Given the description of an element on the screen output the (x, y) to click on. 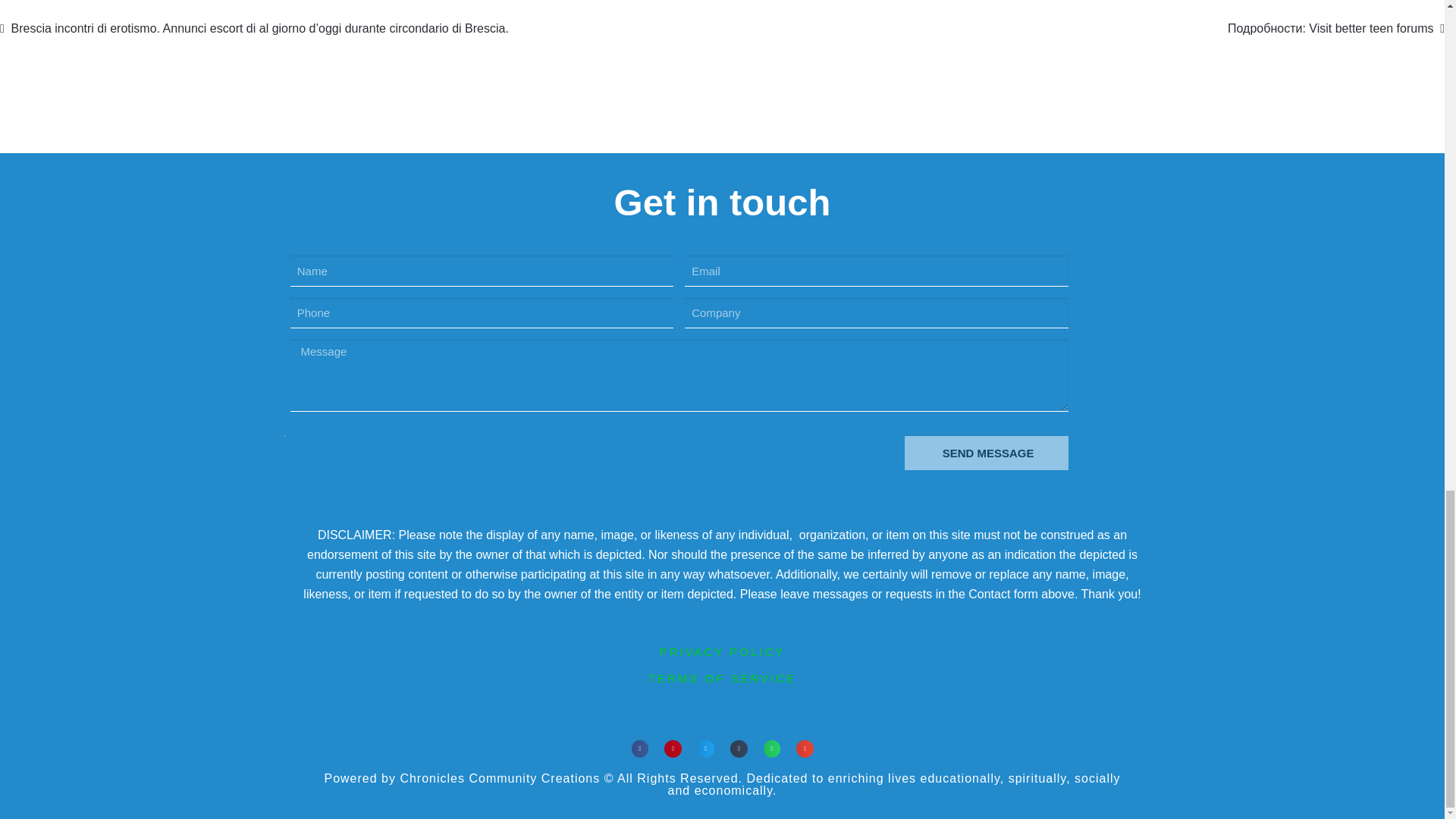
PRIVACY POLICY (722, 651)
SEND MESSAGE (986, 452)
